Given the description of an element on the screen output the (x, y) to click on. 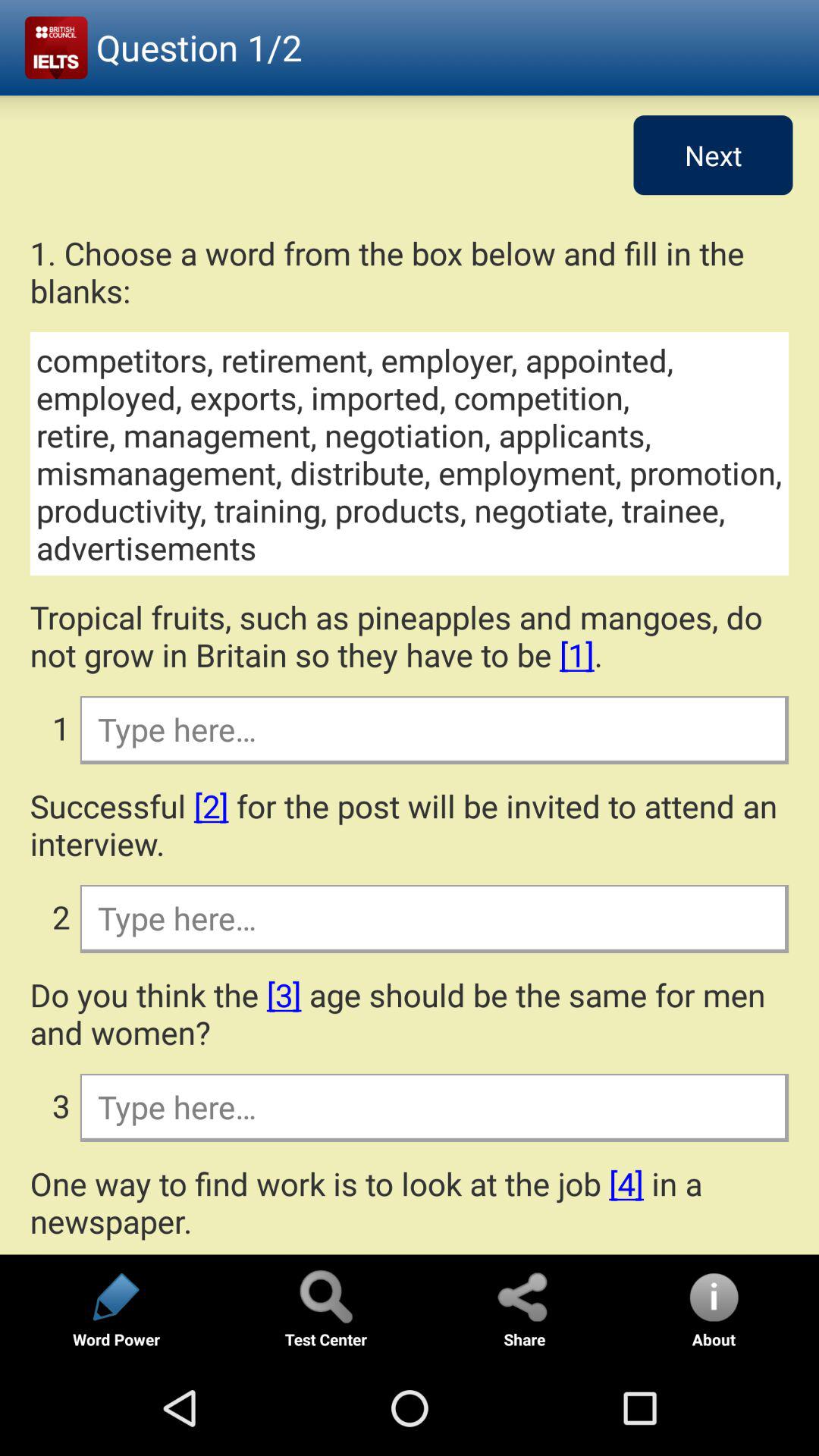
choose the successful 2 for app (409, 824)
